Given the description of an element on the screen output the (x, y) to click on. 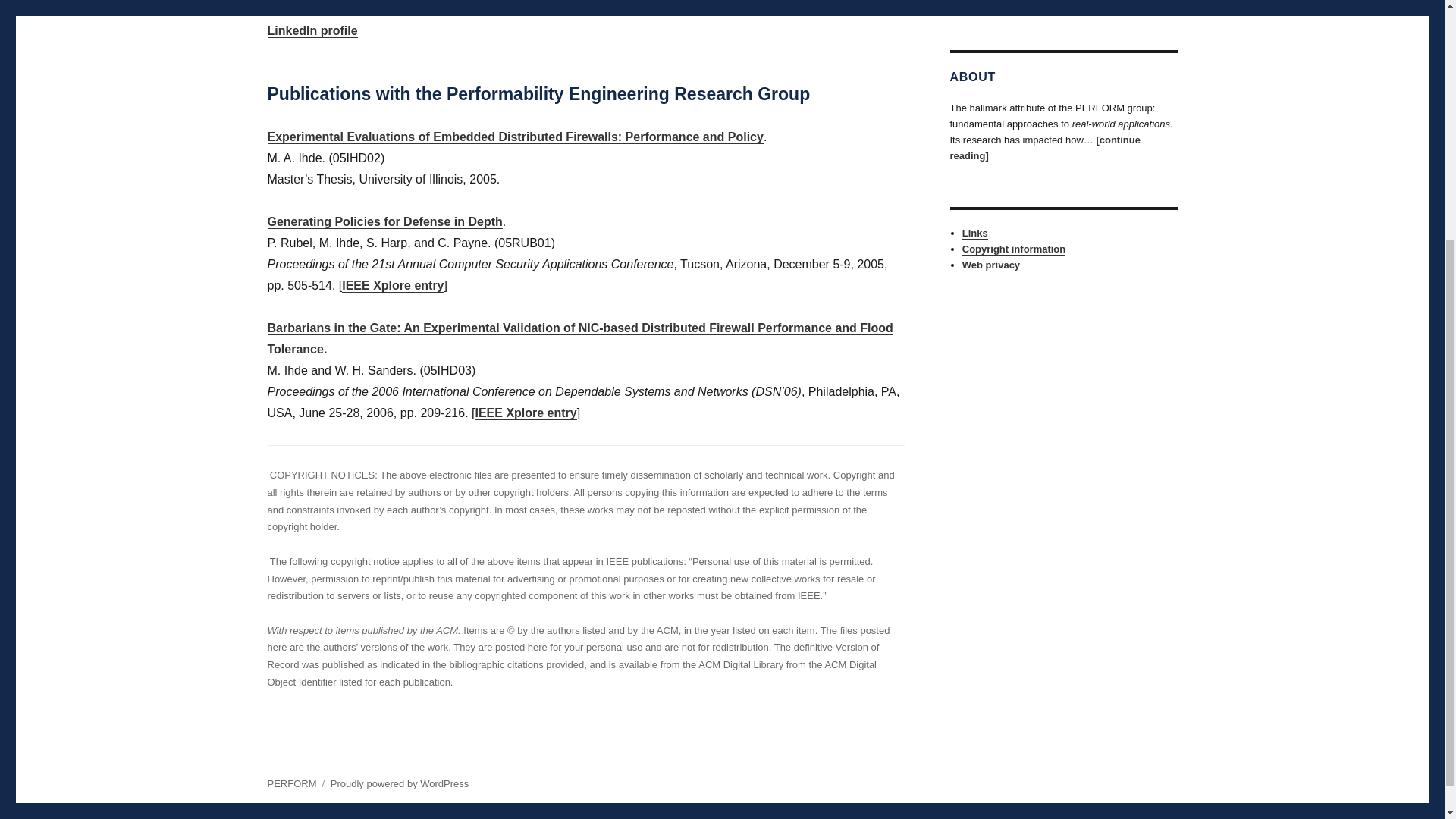
SEARCH (1164, 3)
LinkedIn profile (311, 30)
IEEE Xplore entry (393, 285)
Web privacy (991, 265)
PERFORM (290, 783)
Links (975, 233)
Copyright information (1013, 248)
IEEE Xplore entry (525, 412)
Generating Policies for Defense in Depth (384, 221)
Proudly powered by WordPress (399, 783)
